Given the description of an element on the screen output the (x, y) to click on. 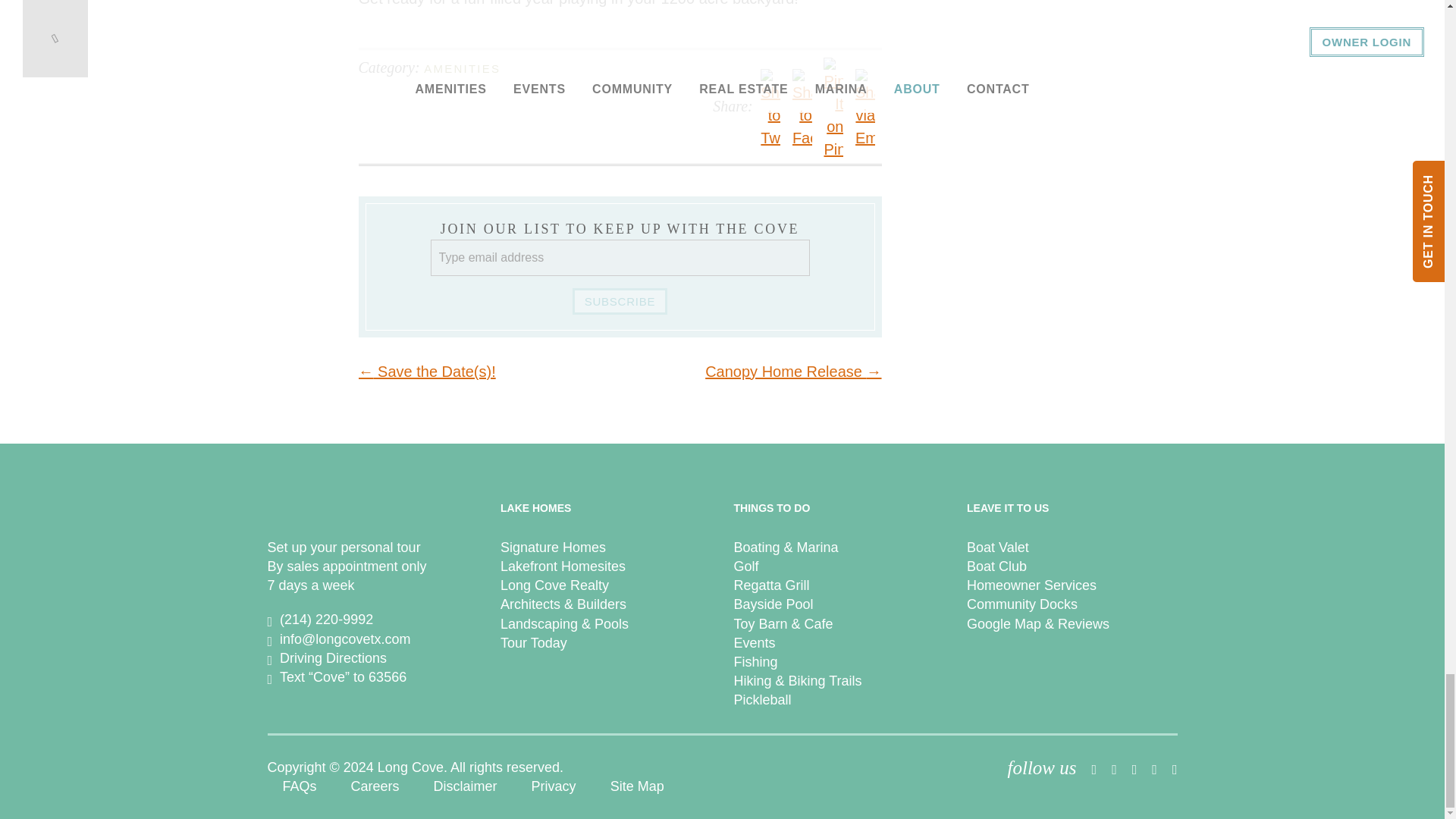
Subscribe (619, 301)
